Given the description of an element on the screen output the (x, y) to click on. 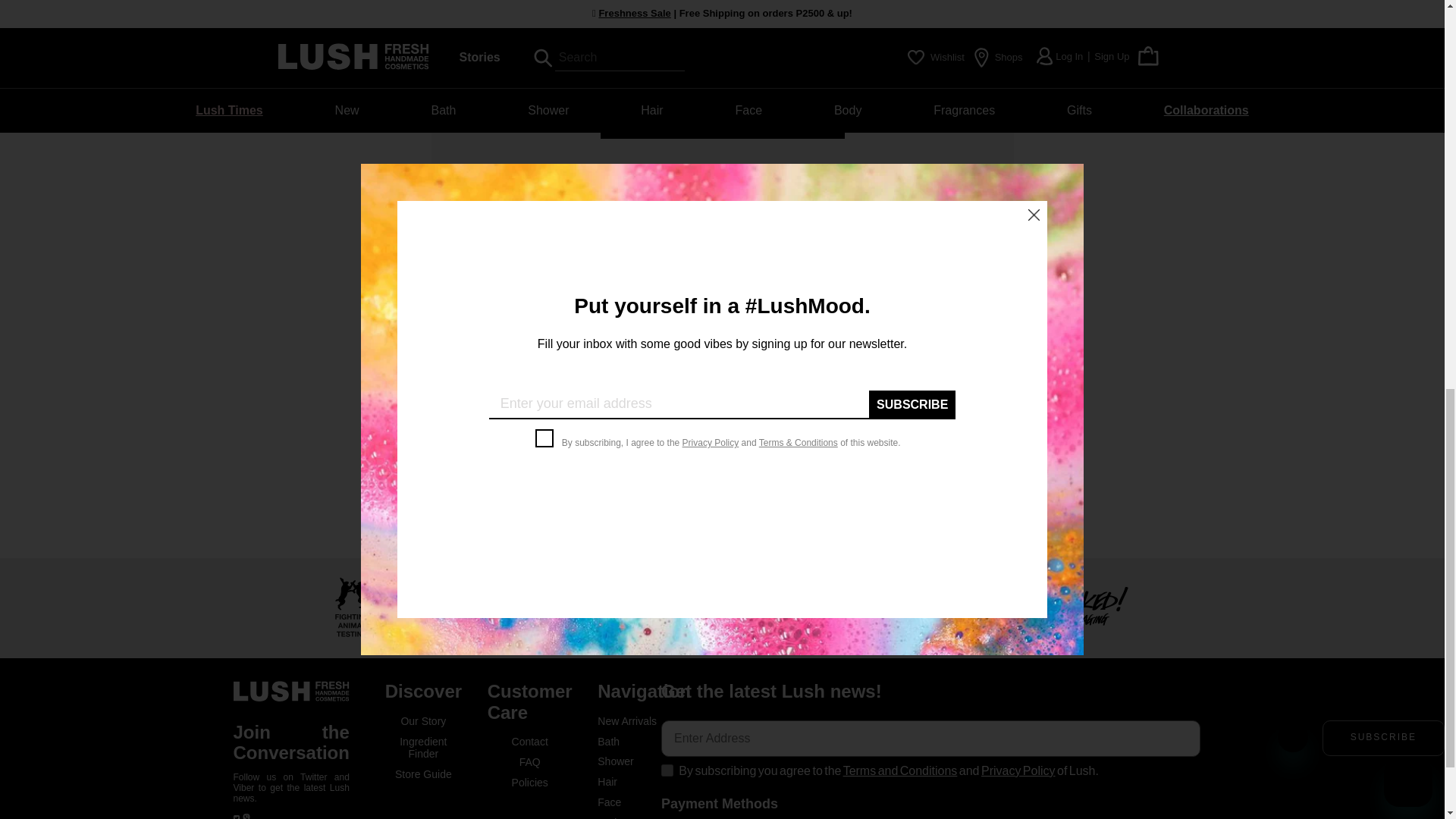
ethical (648, 606)
true (666, 770)
freshest (499, 606)
vegetarian (796, 606)
naked (1091, 606)
BROWSE MORE INGREDIENTS button (721, 120)
handmade (943, 607)
